Given the description of an element on the screen output the (x, y) to click on. 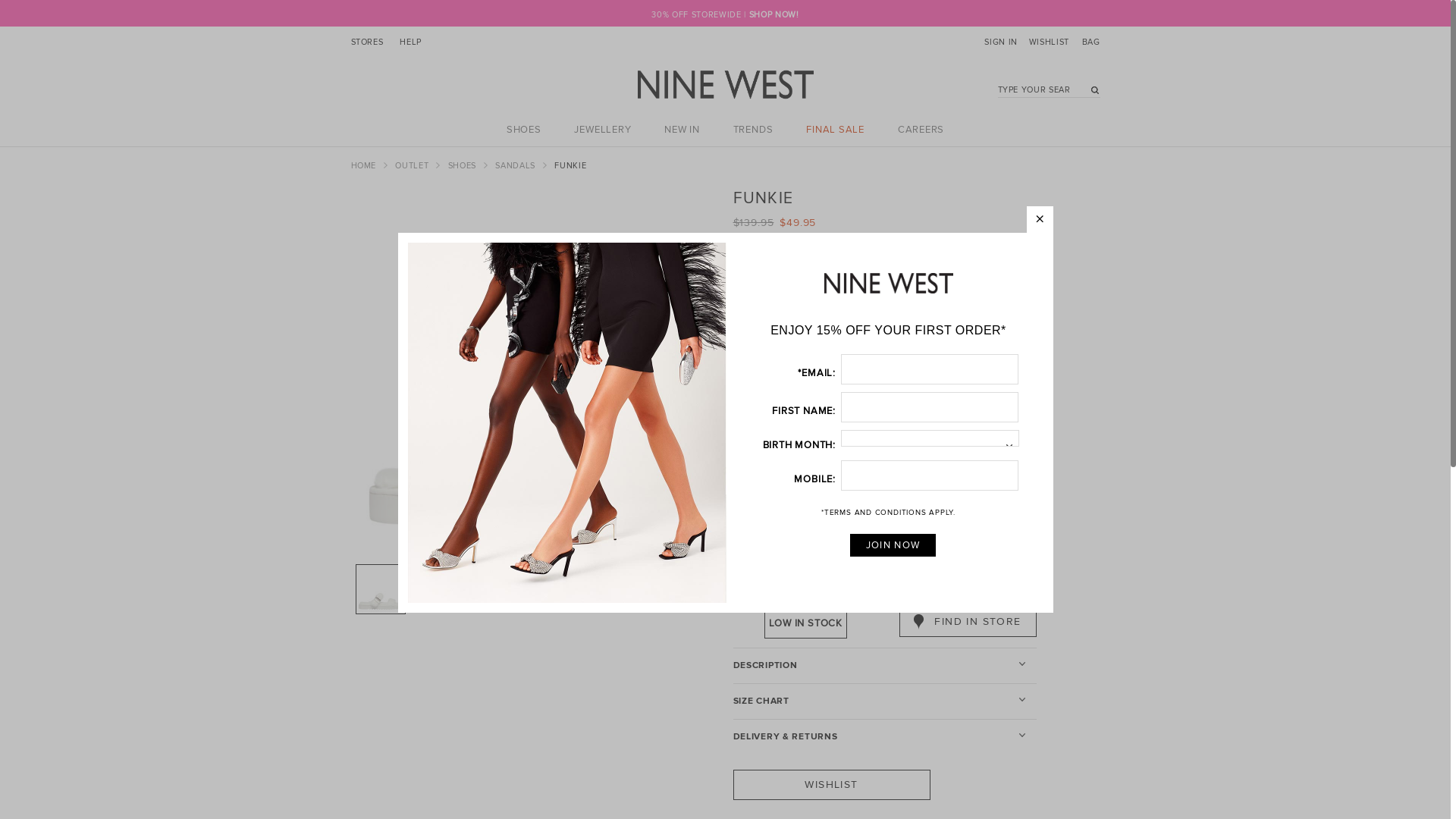
HELP Element type: text (410, 43)
6.5 Element type: text (899, 370)
WISHLIST Element type: text (1047, 43)
30% OFF STOREWIDE | SHOP NOW! Element type: text (724, 14)
5 Element type: text (781, 370)
CAREERS Element type: text (920, 129)
FIND IN STORE Element type: text (967, 621)
7.5 Element type: text (977, 370)
FUNKIE  IVORY Element type: hover (533, 372)
6 Element type: text (860, 370)
8.5 Element type: text (820, 398)
9.5 Element type: text (899, 398)
7 Element type: text (939, 370)
SIGN IN Element type: text (1000, 43)
8 Element type: text (781, 398)
10.5 Element type: text (977, 398)
TRENDS Element type: text (753, 129)
11 Element type: text (781, 426)
FUNKIE  IVORY Element type: hover (439, 588)
ADD TO BAG Element type: text (967, 586)
WISHLIST Element type: text (830, 784)
JOIN NOW Element type: text (892, 544)
9 Element type: text (860, 398)
5.5 Element type: text (820, 370)
go Element type: text (1091, 91)
OUTLET Element type: text (413, 165)
SHOES Element type: text (523, 129)
10 Element type: text (939, 398)
JEWELLERY Element type: text (602, 129)
SHOES Element type: text (463, 165)
HOME Element type: text (364, 165)
NEW IN Element type: text (682, 129)
Details Element type: text (752, 277)
FUNKIE  IVORY Element type: hover (498, 588)
FINAL SALE Element type: text (834, 129)
Nine West Australia Element type: hover (724, 84)
IVORY Element type: hover (785, 522)
FUNKIE  IVORY Element type: hover (380, 588)
SANDALS Element type: text (516, 165)
Hover to zoom Element type: text (533, 372)
FUNKIE  IVORY Element type: hover (557, 588)
STORES Element type: text (366, 43)
